Given the description of an element on the screen output the (x, y) to click on. 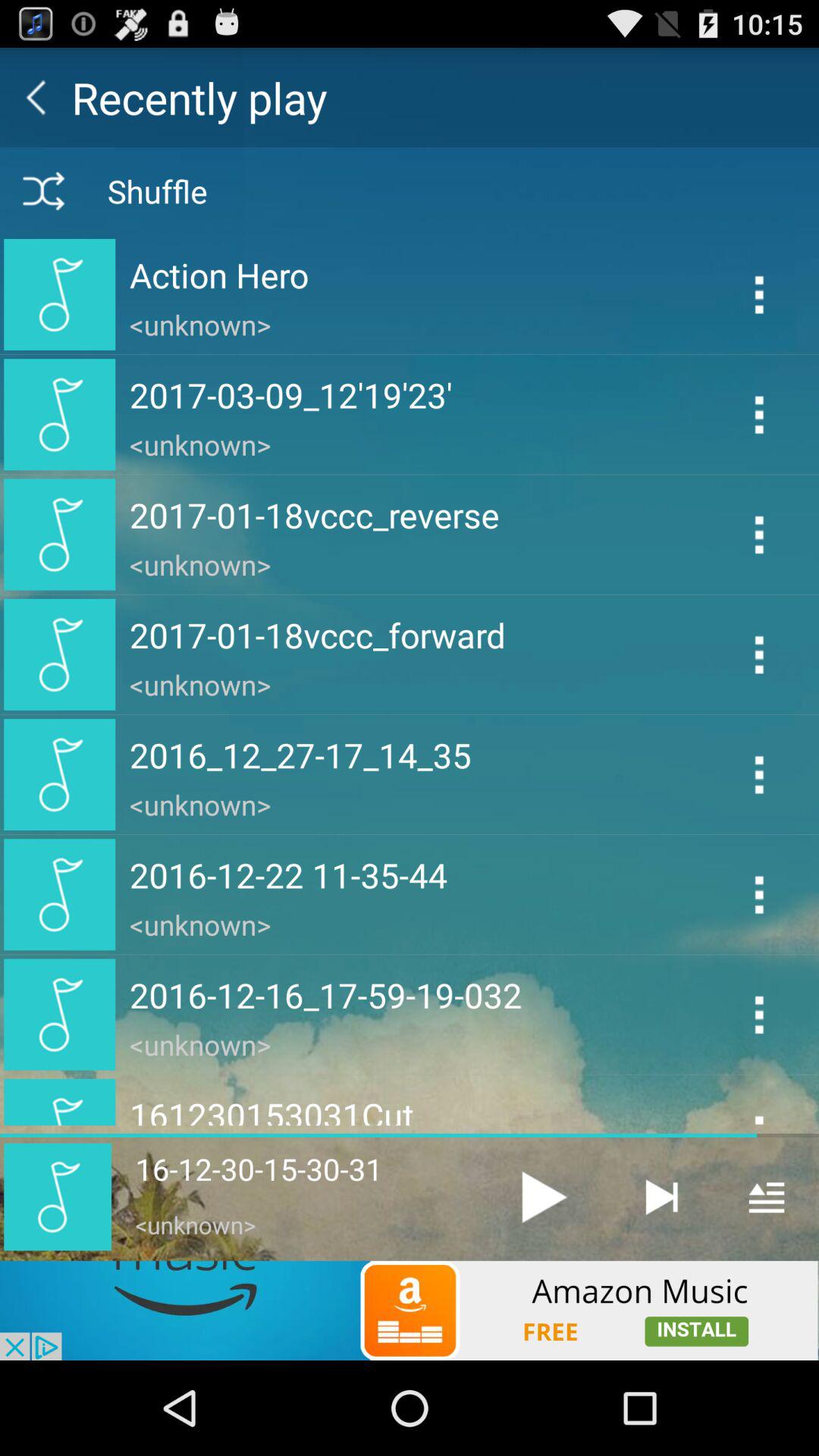
advertisement area (409, 1310)
